Given the description of an element on the screen output the (x, y) to click on. 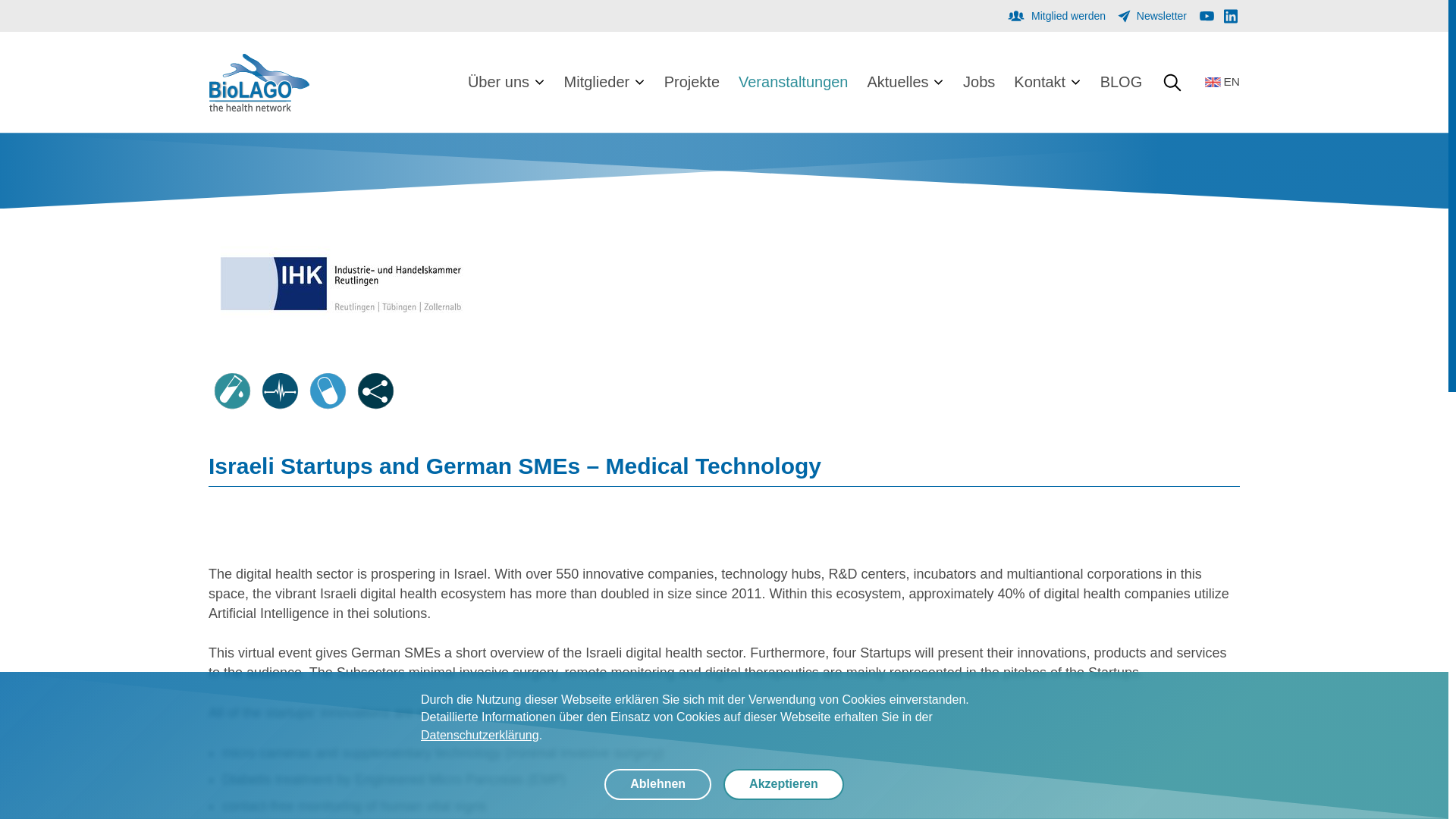
Aktuelles (904, 82)
Newsletter (1151, 15)
Projekte (691, 82)
Devices (280, 390)
Kontakt (1046, 82)
Veranstaltungen (792, 82)
BioLAGO - the health network (258, 81)
Mitglied werden (1055, 15)
EN (1221, 82)
Mitglieder (604, 82)
BLOG (1121, 82)
Diagnostics (232, 390)
Jobs (978, 82)
Data (375, 390)
